Given the description of an element on the screen output the (x, y) to click on. 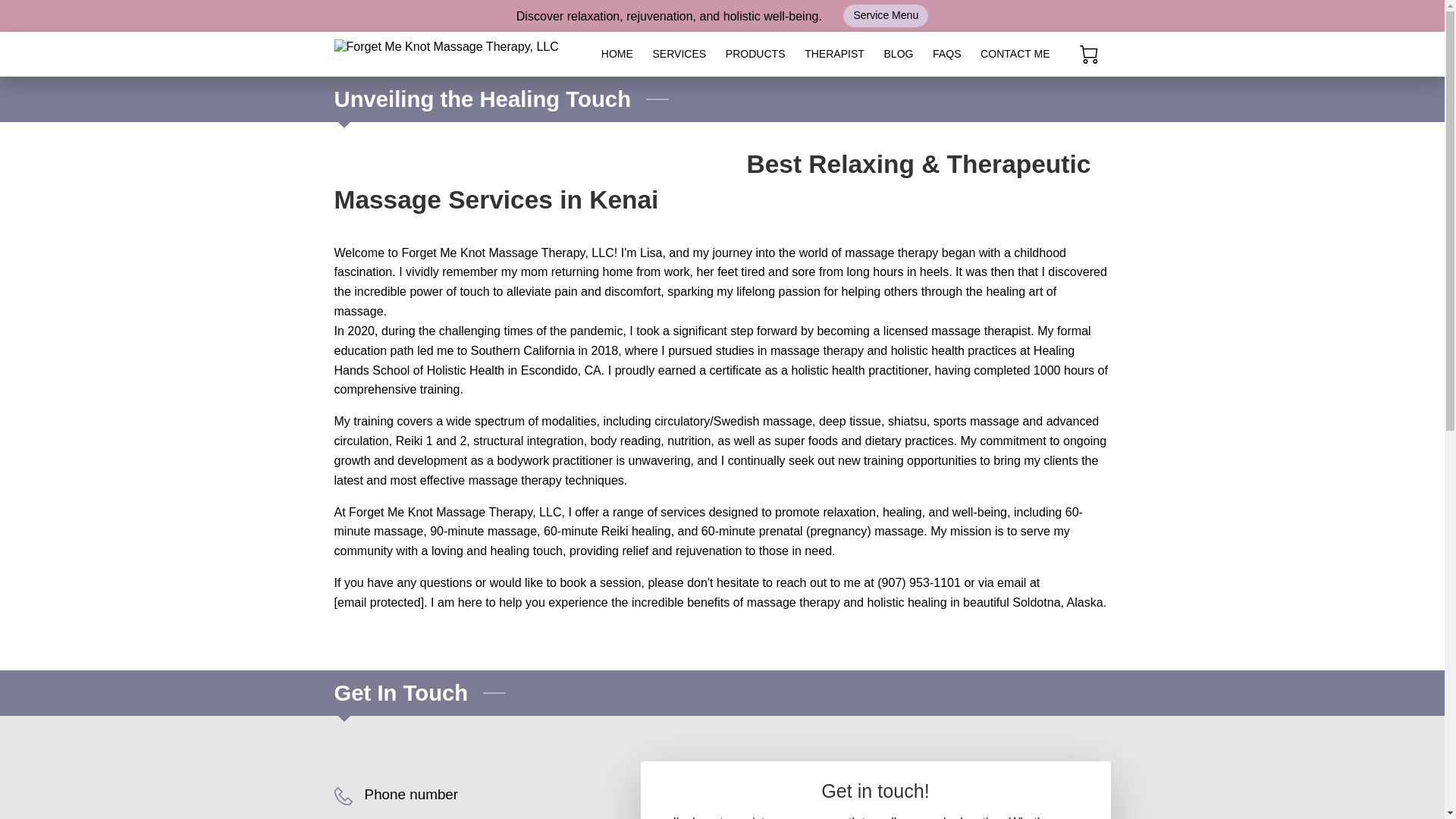
THERAPIST (833, 53)
Service Menu (885, 15)
PRODUCTS (755, 53)
BLOG (899, 53)
FAQS (947, 53)
CONTACT ME (1015, 53)
SERVICES (679, 53)
HOME (617, 53)
0 (1088, 54)
